Given the description of an element on the screen output the (x, y) to click on. 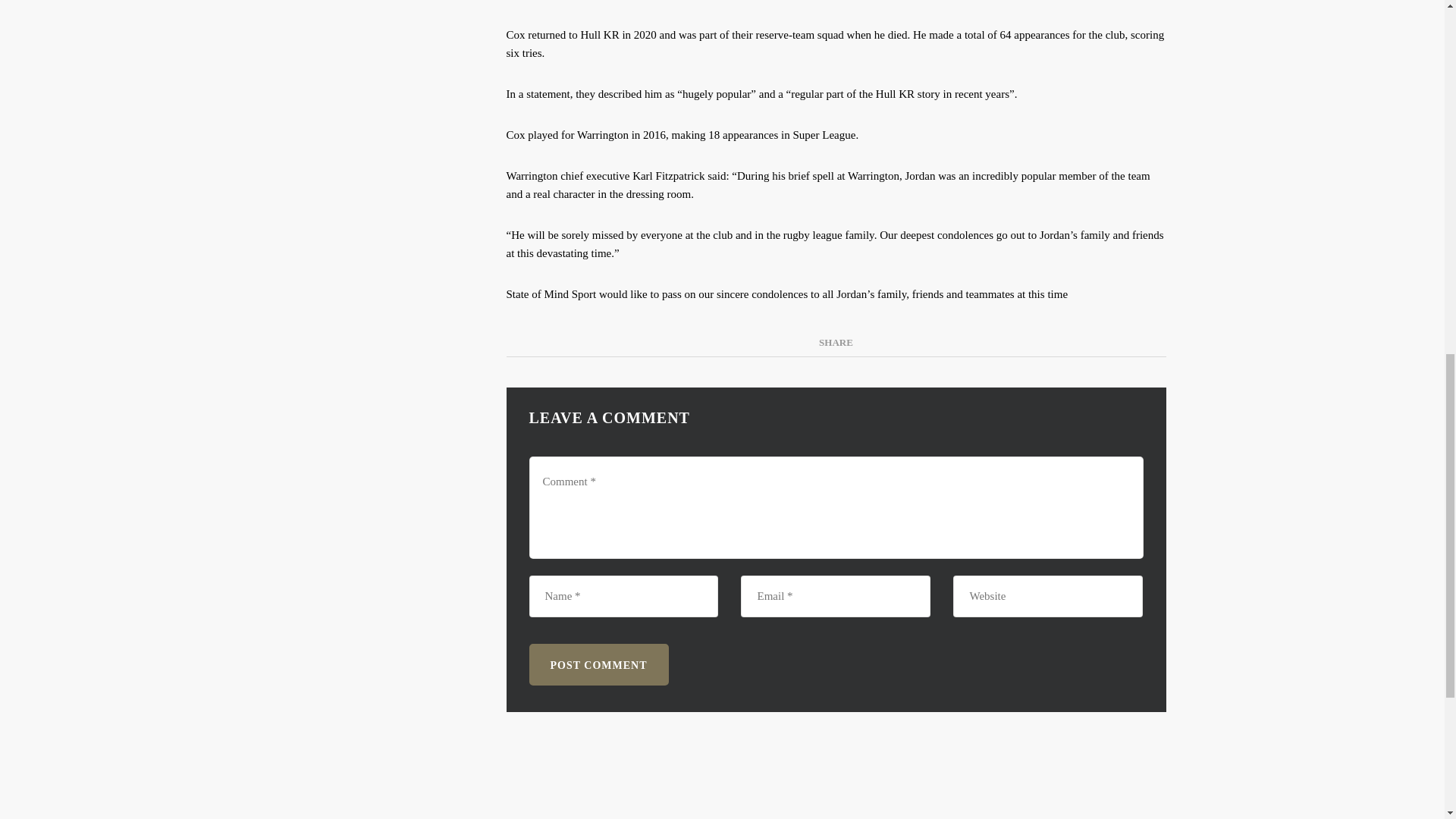
Post Comment (598, 664)
